Given the description of an element on the screen output the (x, y) to click on. 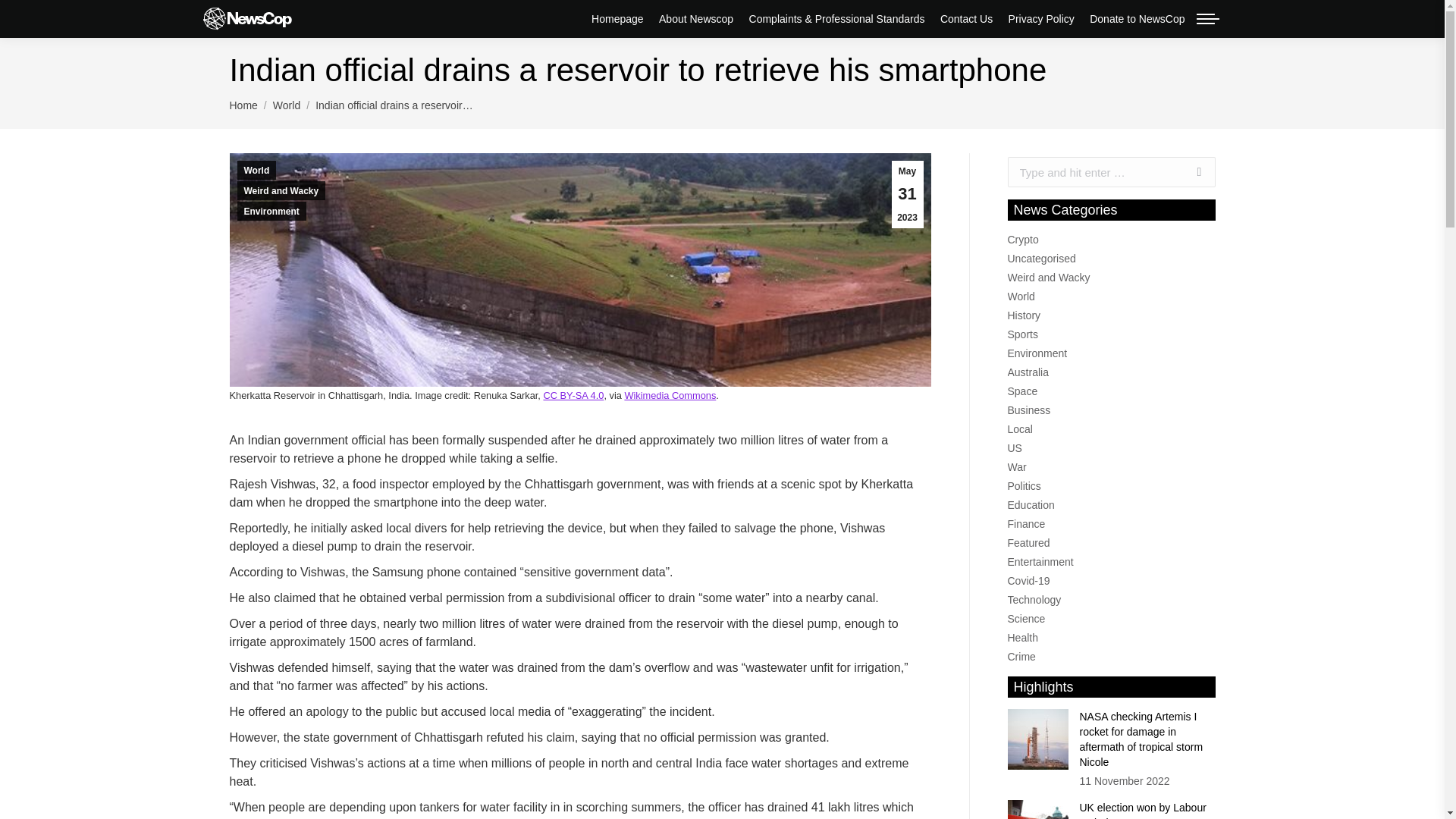
Homepage (617, 18)
Contact Us (966, 18)
About Newscop (696, 18)
Go! (1191, 172)
Donate to NewsCop (1137, 18)
Privacy Policy (1041, 18)
Go! (1191, 172)
